Given the description of an element on the screen output the (x, y) to click on. 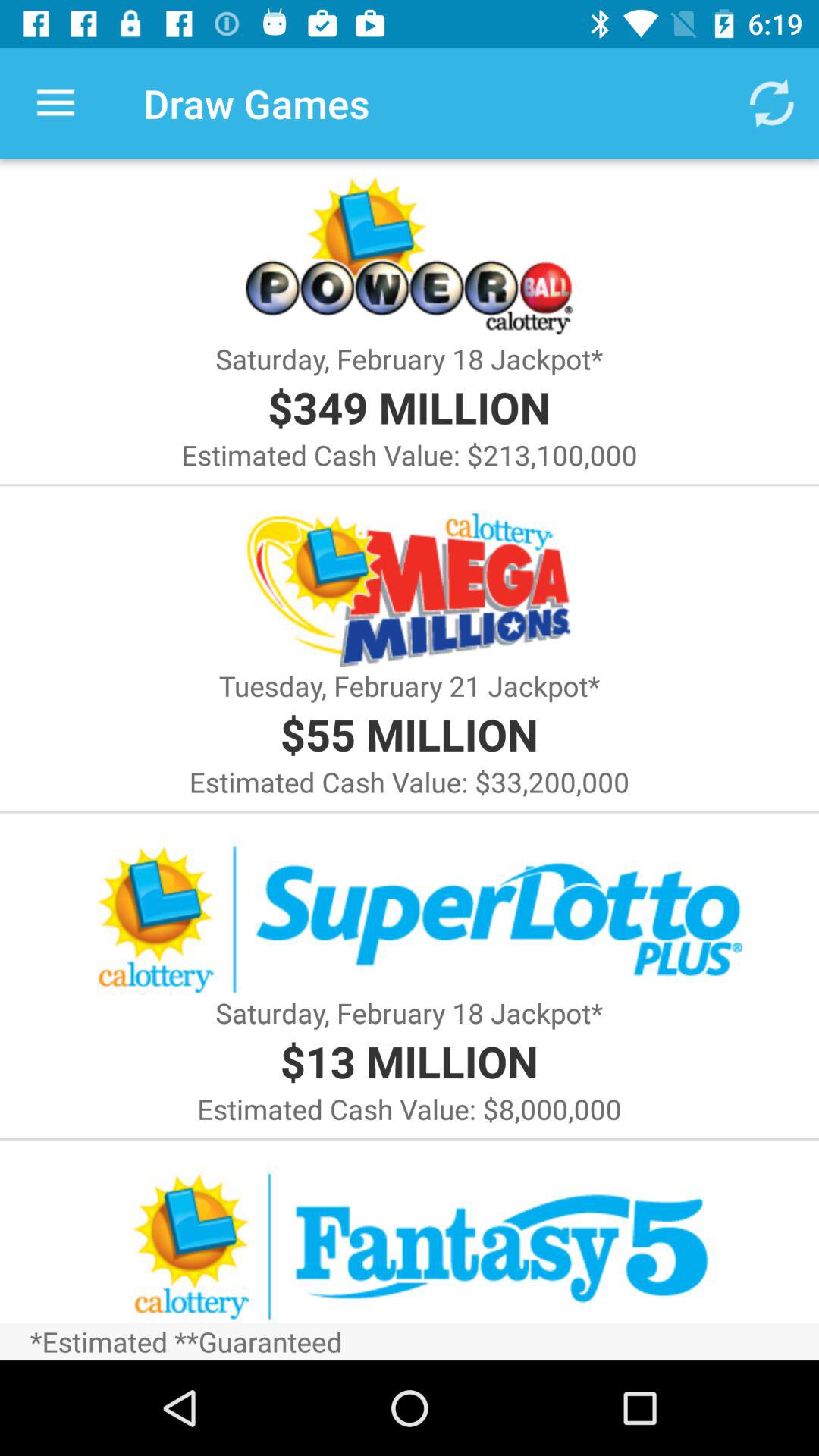
turn off the item below saturday february 18 item (409, 1060)
